Given the description of an element on the screen output the (x, y) to click on. 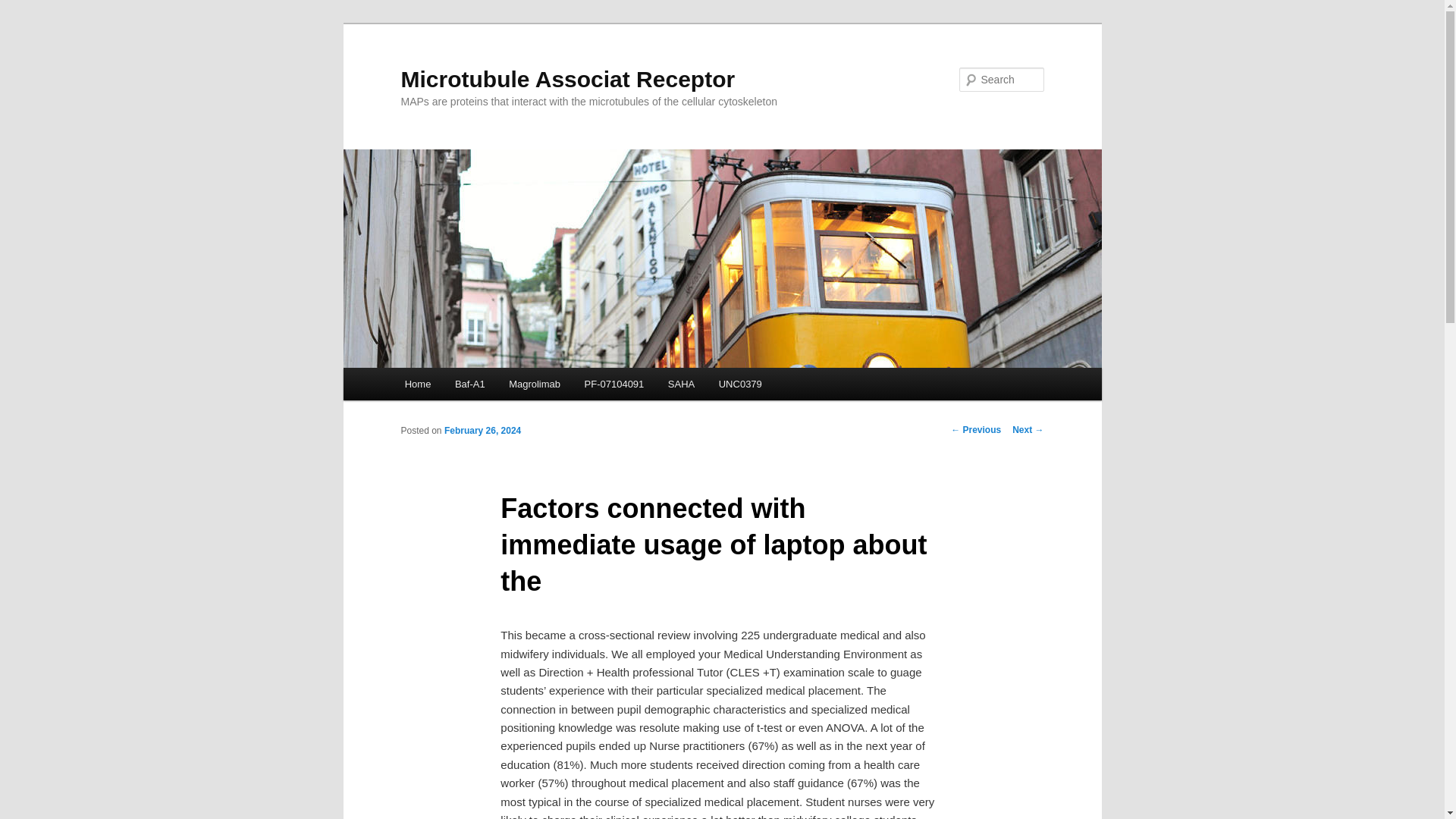
Microtubule Associat Receptor (567, 78)
Home (417, 383)
Baf-A1 (469, 383)
PF-07104091 (614, 383)
Home (417, 383)
Skip to primary content (472, 386)
Skip to primary content (472, 386)
Magrolimab (534, 383)
SAHA (681, 383)
Skip to secondary content (479, 386)
Search (24, 8)
Microtubule Associat Receptor (567, 78)
February 26, 2024 (482, 430)
2:40 pm (482, 430)
UNC0379 (740, 383)
